Given the description of an element on the screen output the (x, y) to click on. 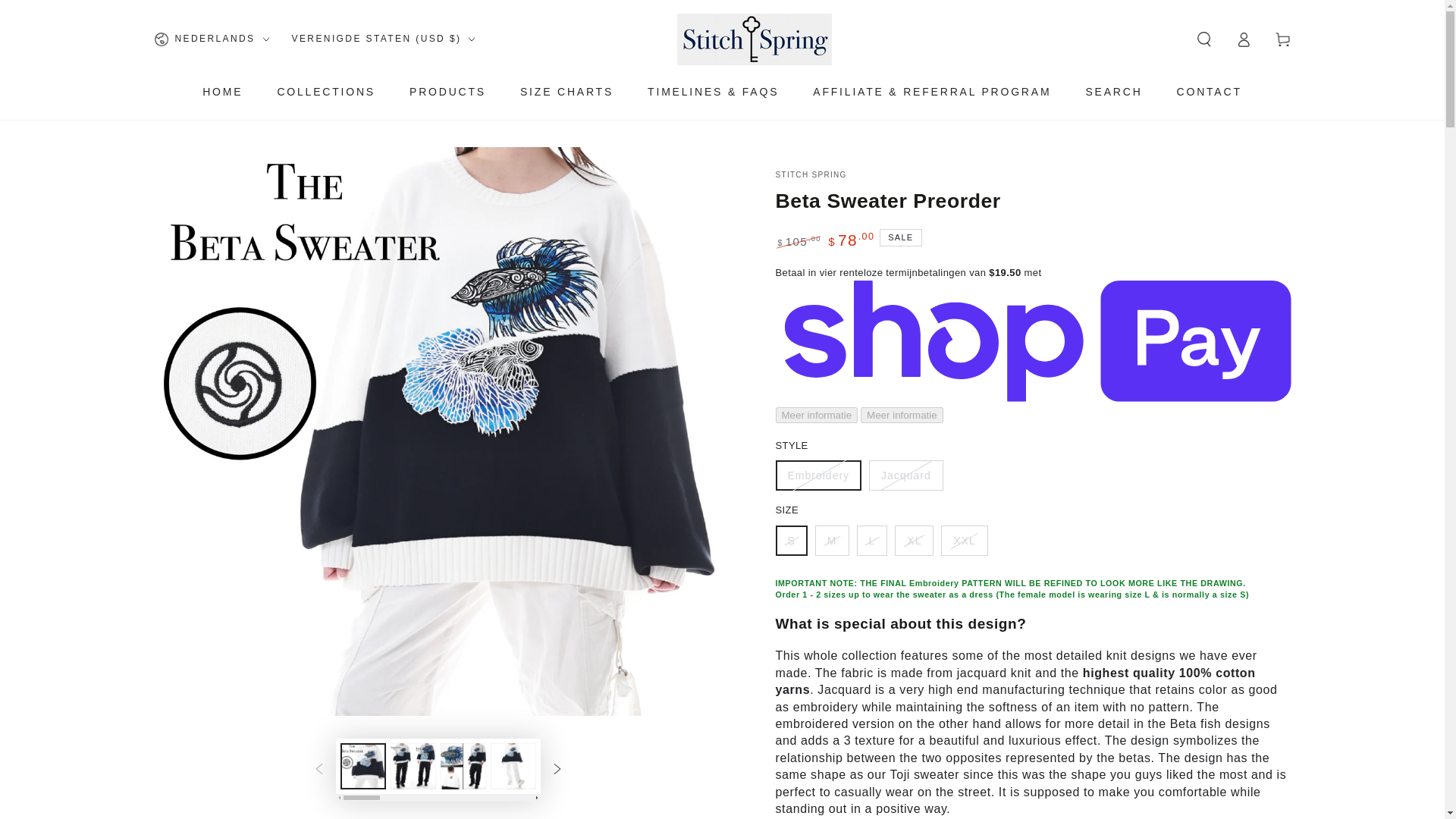
Stitch Spring (809, 174)
SKIP TO CONTENT (67, 14)
